Given the description of an element on the screen output the (x, y) to click on. 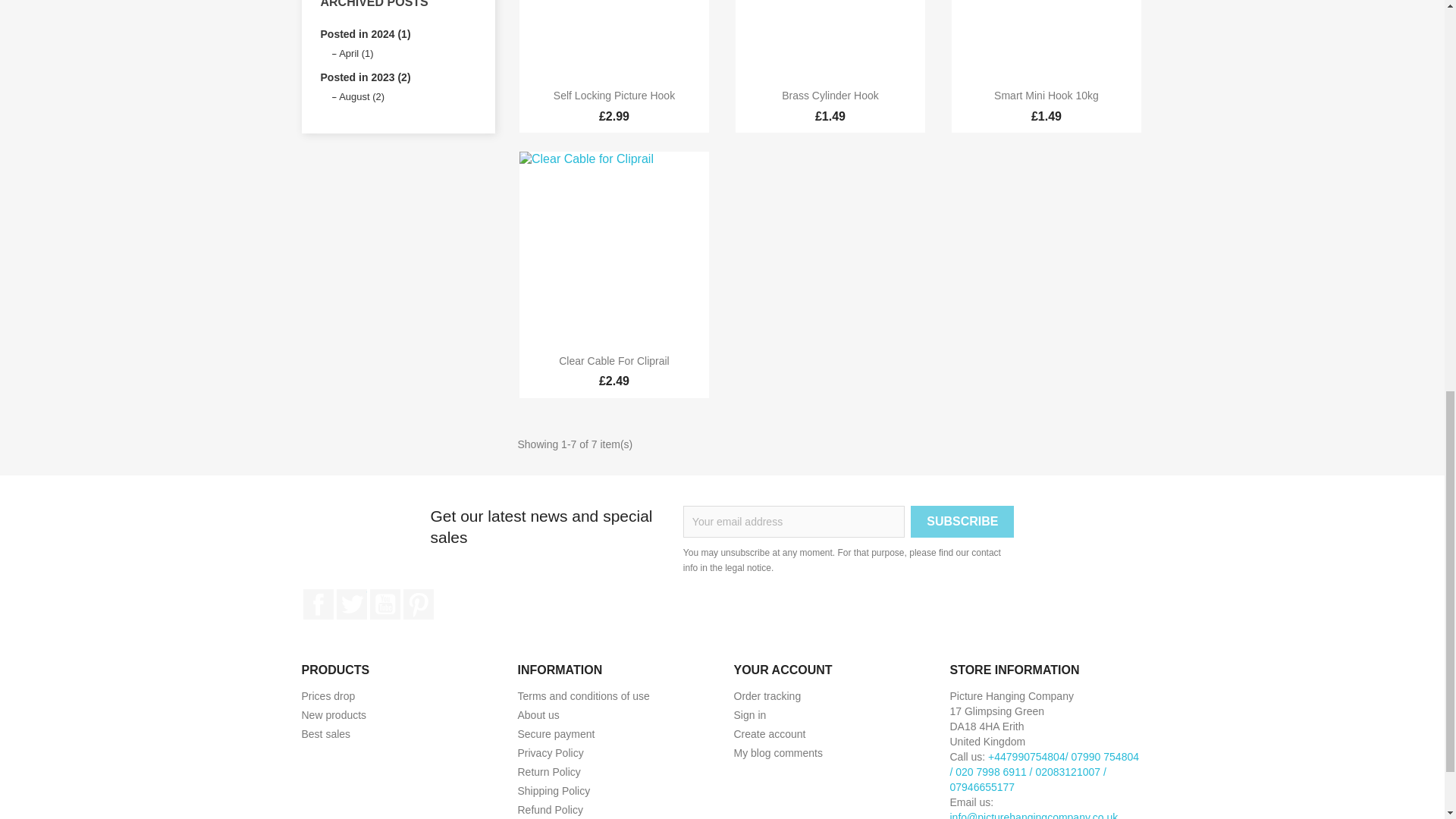
Subscribe (962, 521)
Order tracking (767, 695)
Our special products (328, 695)
Our terms and conditions of  Return (547, 771)
Our secure payment method (555, 734)
Shipping Policy (552, 790)
Our new products (333, 715)
Our terms and conditions of use (582, 695)
My blog comments (777, 752)
